Given the description of an element on the screen output the (x, y) to click on. 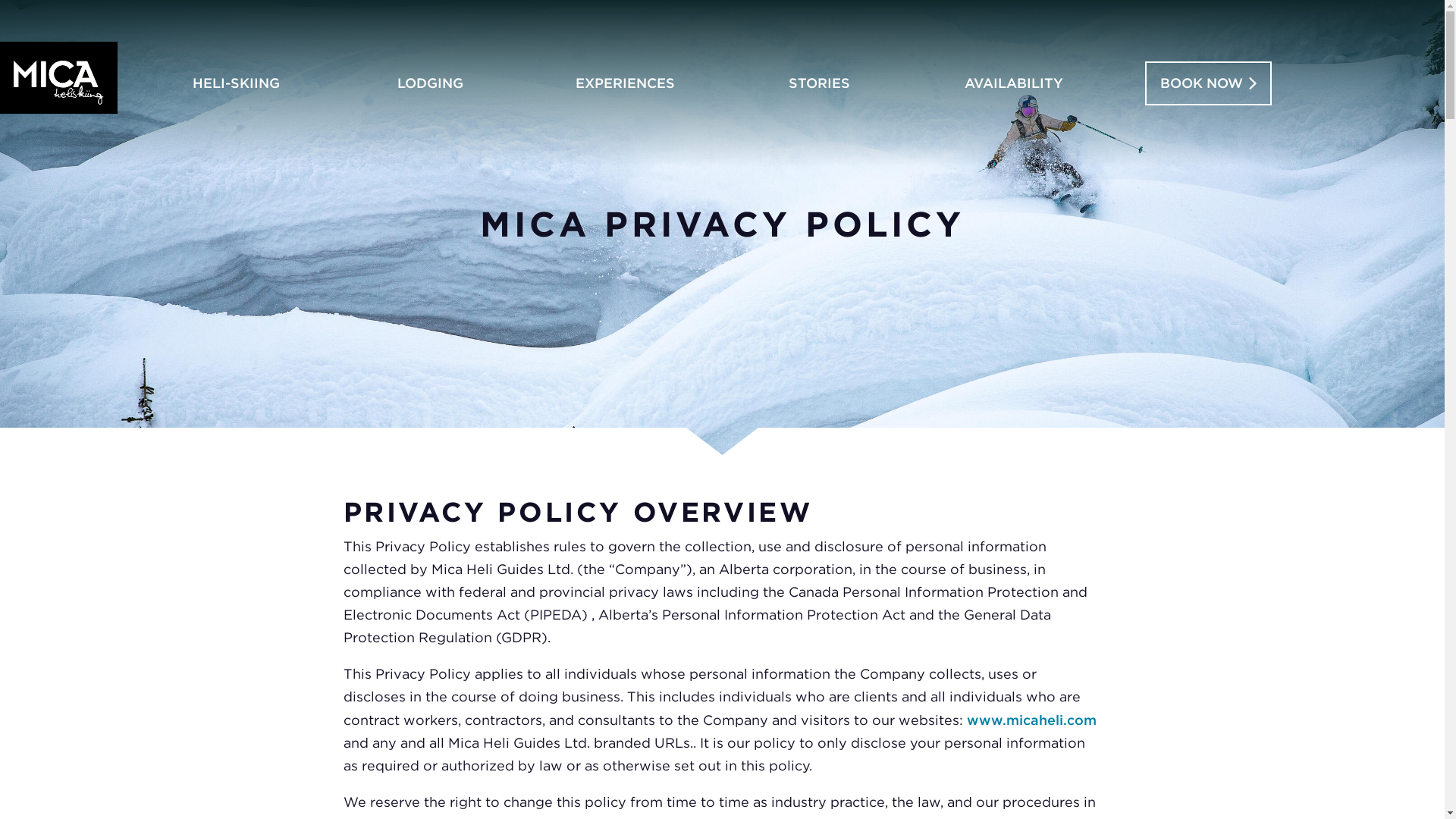
BOOK NOW (1207, 83)
STORIES (819, 83)
LODGING (430, 83)
AVAILABILITY (1014, 83)
HELI-SKIING (235, 83)
www.micaheli.com (1031, 719)
Home (58, 77)
EXPERIENCES (624, 83)
